Given the description of an element on the screen output the (x, y) to click on. 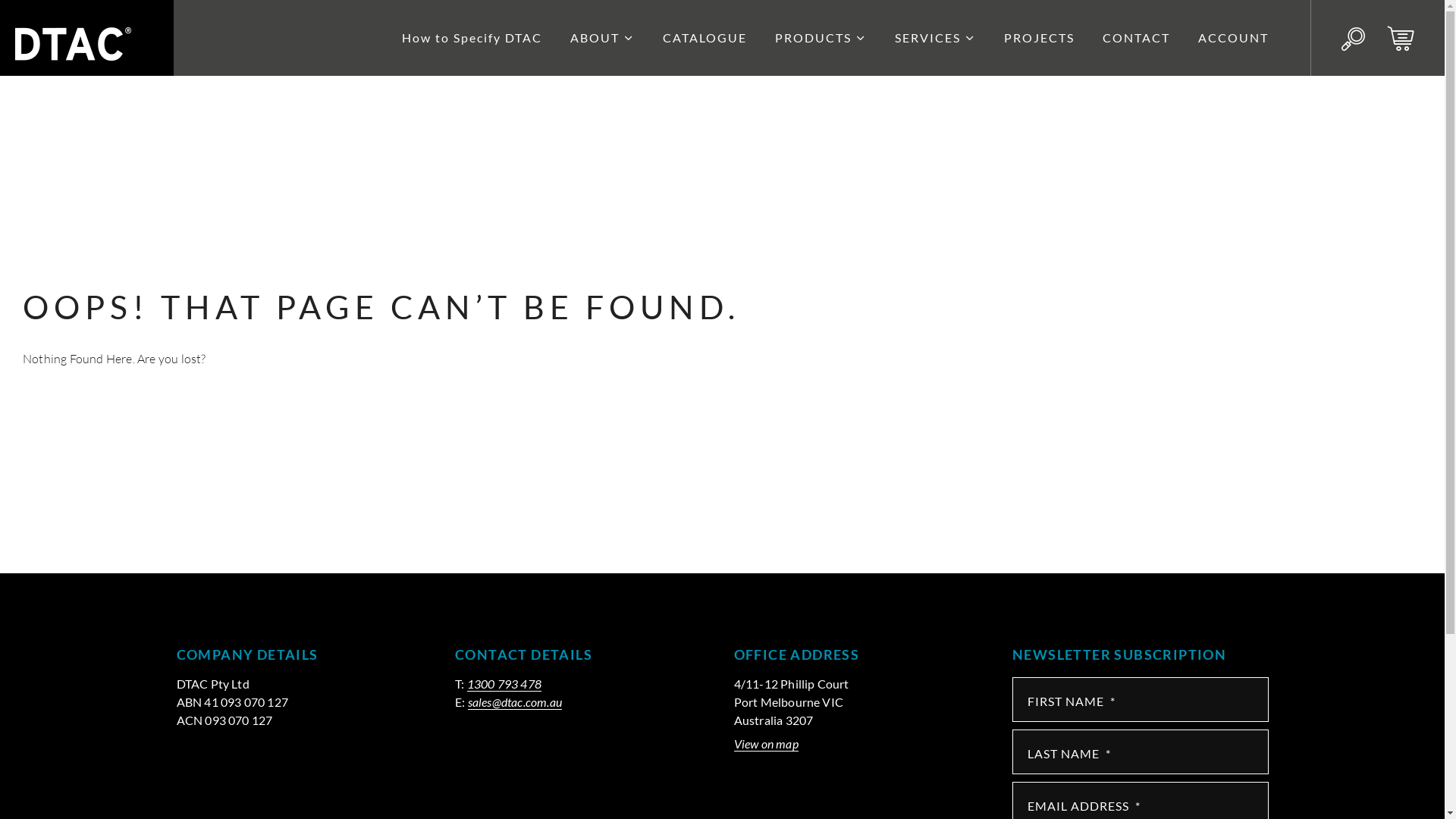
View on map Element type: text (766, 743)
CATALOGUE Element type: text (704, 37)
PROJECTS Element type: text (1039, 37)
CONTACT Element type: text (1136, 37)
ACCOUNT Element type: text (1233, 37)
1300 793 478 Element type: text (504, 683)
PRODUCTS Element type: text (813, 37)
SERVICES Element type: text (927, 37)
sales@dtac.com.au Element type: text (514, 701)
ABOUT Element type: text (594, 37)
How to Specify DTAC Element type: text (471, 37)
